Given the description of an element on the screen output the (x, y) to click on. 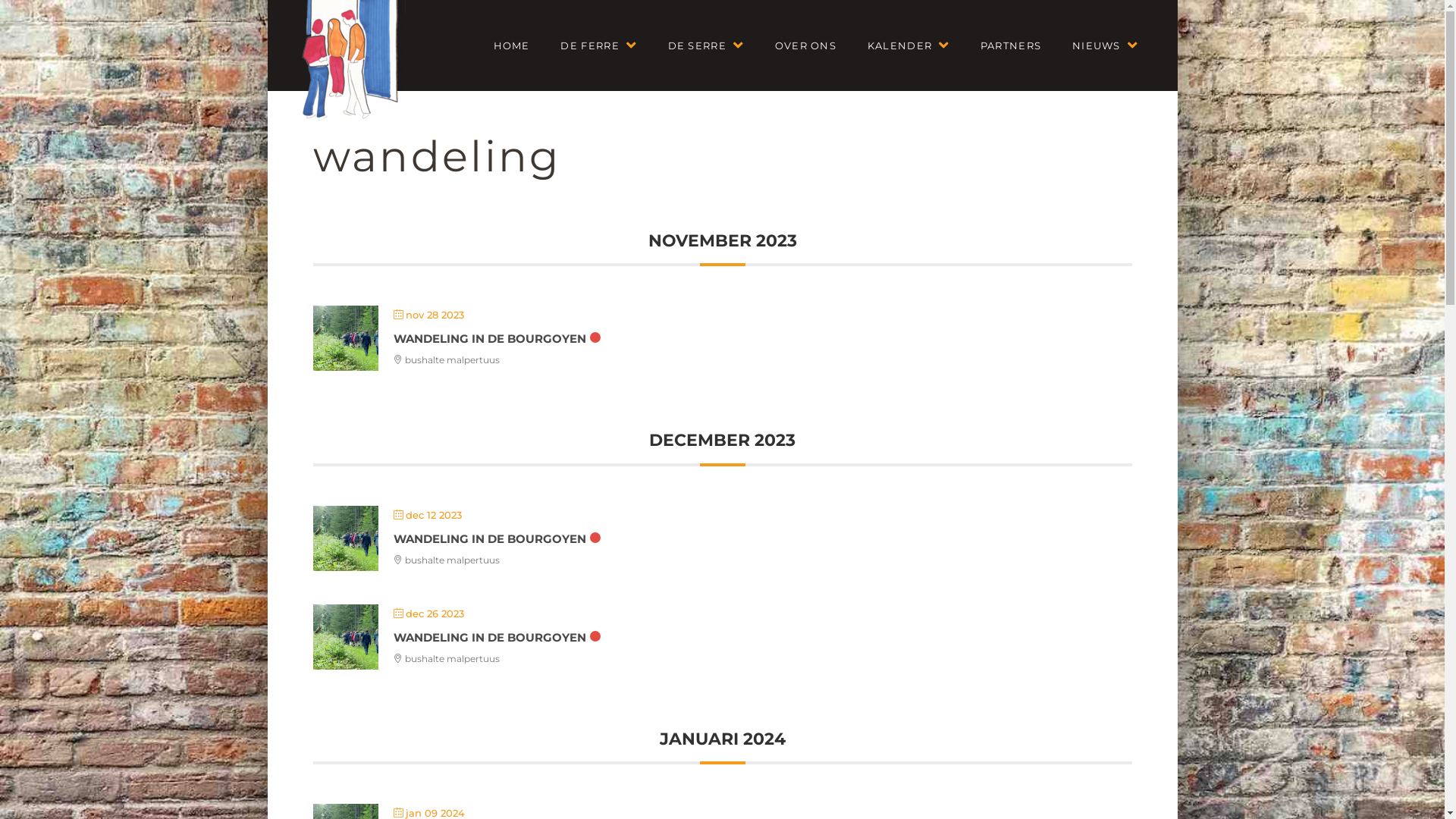
PARTNERS Element type: text (1010, 45)
WANDELING IN DE BOURGOYEN Element type: text (488, 538)
NIEUWS Element type: text (1104, 45)
HOME Element type: text (511, 45)
KALENDER Element type: text (907, 45)
WANDELING IN DE BOURGOYEN Element type: text (488, 338)
OVER ONS Element type: text (805, 45)
DE SERRE Element type: text (705, 45)
DE FERRE Element type: text (597, 45)
WANDELING IN DE BOURGOYEN Element type: text (488, 637)
